Given the description of an element on the screen output the (x, y) to click on. 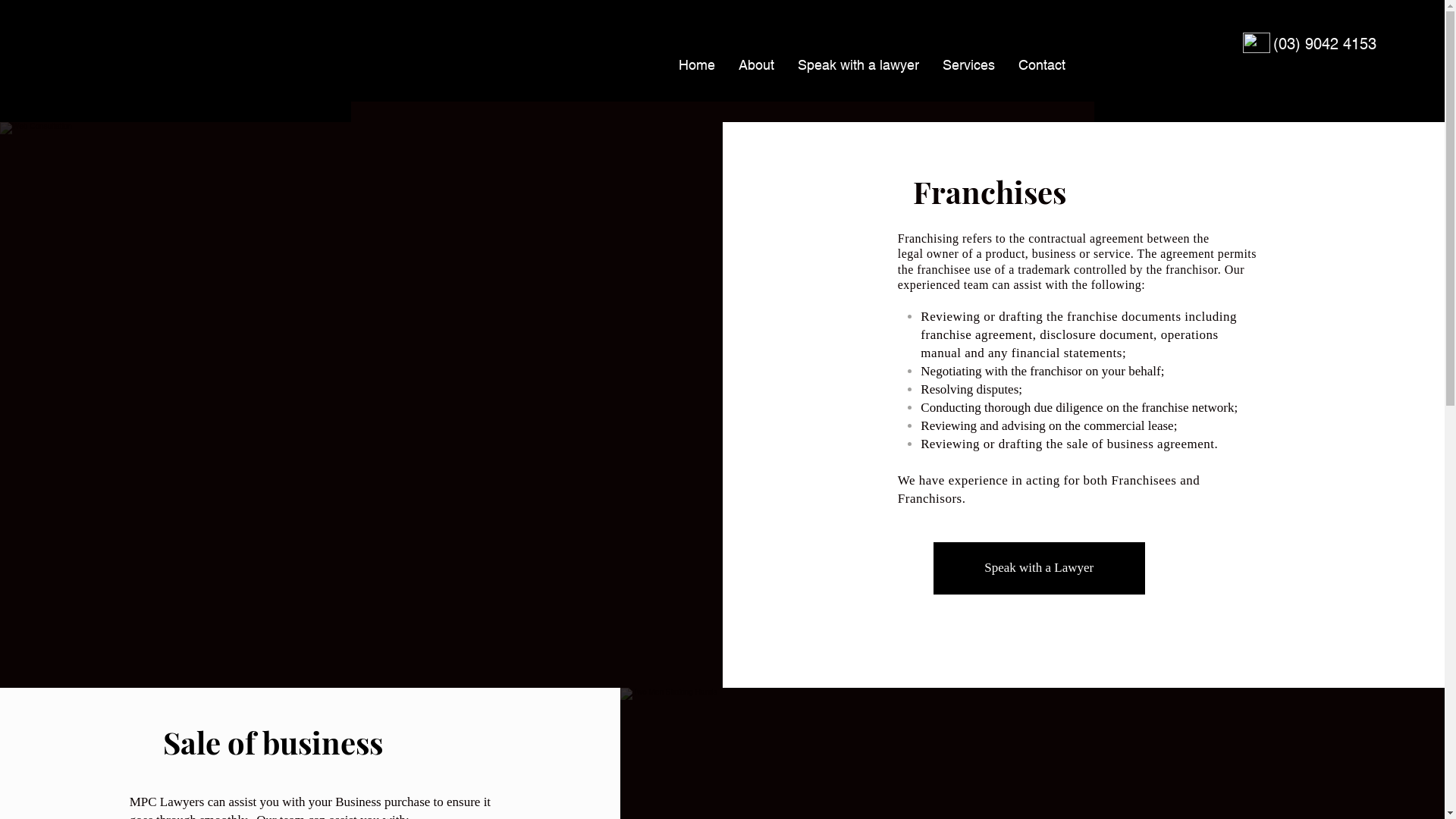
Services Element type: text (968, 65)
Speak with a lawyer Element type: text (857, 65)
Contact Element type: text (1041, 65)
Home Element type: text (696, 65)
About Element type: text (755, 65)
